Given the description of an element on the screen output the (x, y) to click on. 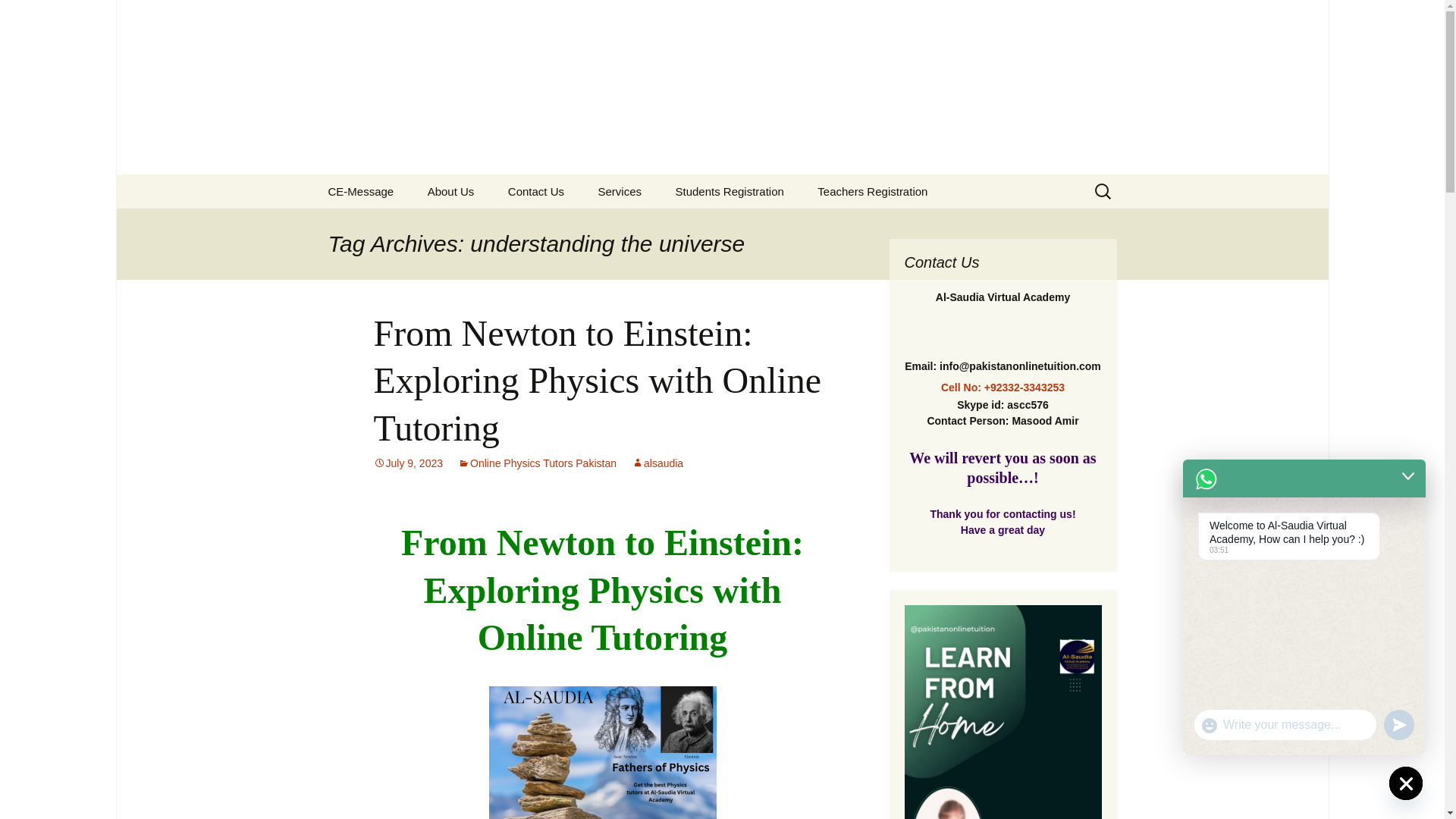
CE-Message (361, 191)
About Us (450, 191)
Contact Us (536, 191)
Students Registration (728, 191)
alsaudia (656, 463)
View all posts by alsaudia (656, 463)
Search (18, 15)
Online Physics Tutors Pakistan (536, 463)
Services (619, 191)
July 9, 2023 (407, 463)
Teachers Registration (872, 191)
